Given the description of an element on the screen output the (x, y) to click on. 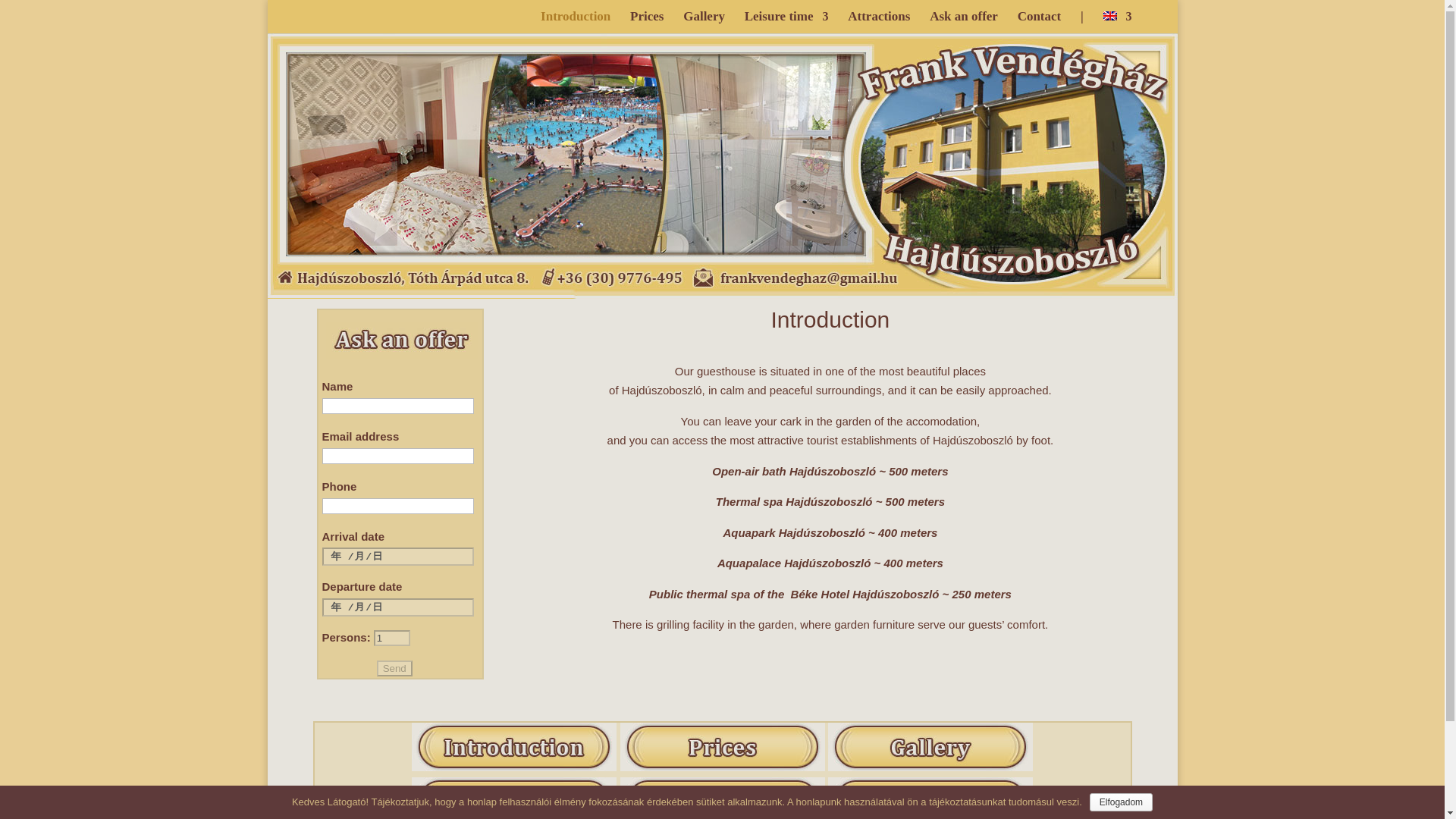
Send (394, 668)
English (1116, 22)
Gallery (703, 22)
Introduction (575, 22)
Ask an offer (963, 22)
Send (394, 668)
Leisure time (786, 22)
Prices (646, 22)
Contact (1039, 22)
Attractions (878, 22)
1 (392, 637)
